Given the description of an element on the screen output the (x, y) to click on. 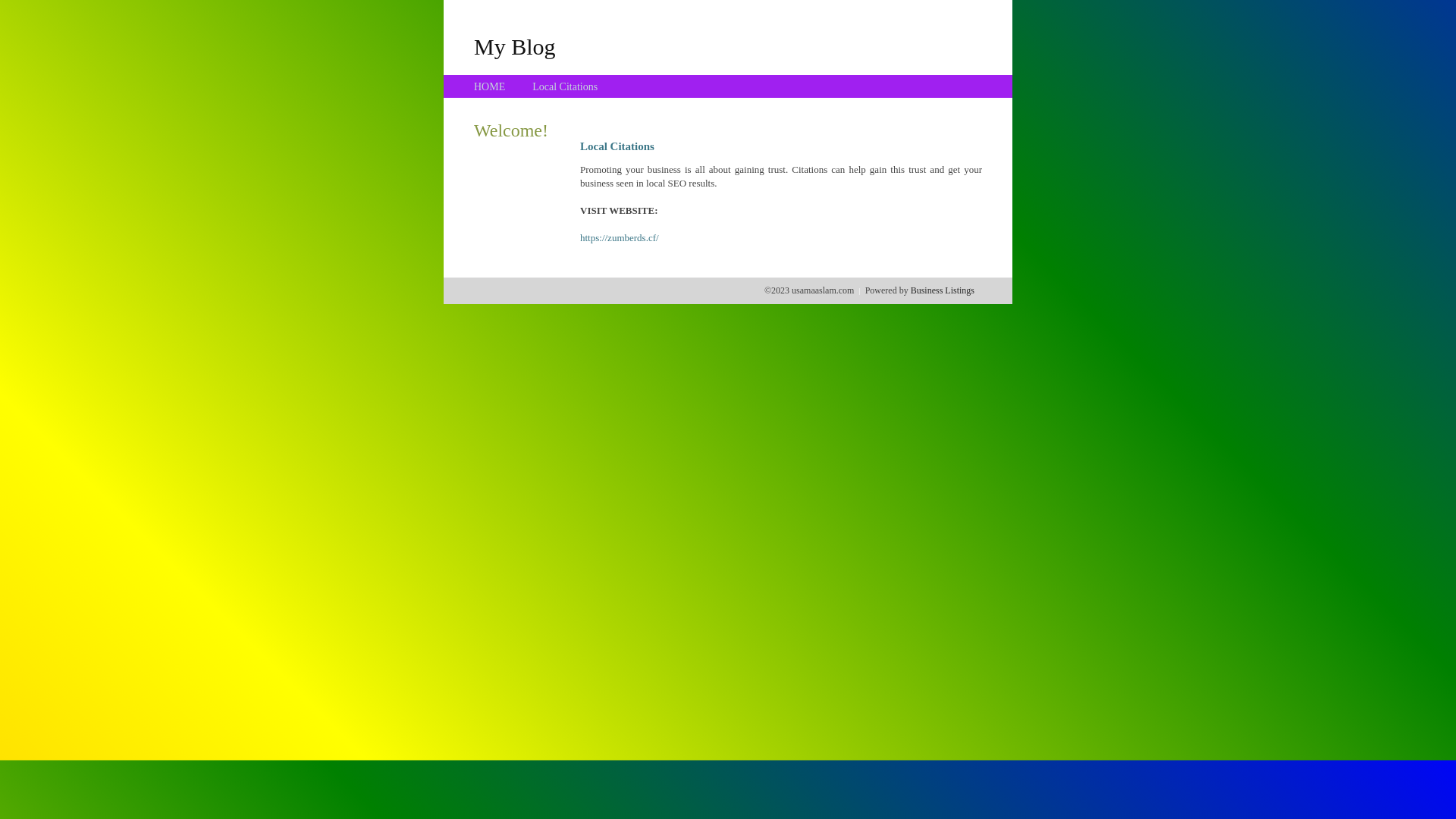
Business Listings Element type: text (942, 290)
Local Citations Element type: text (564, 86)
HOME Element type: text (489, 86)
https://zumberds.cf/ Element type: text (619, 237)
My Blog Element type: text (514, 46)
